Given the description of an element on the screen output the (x, y) to click on. 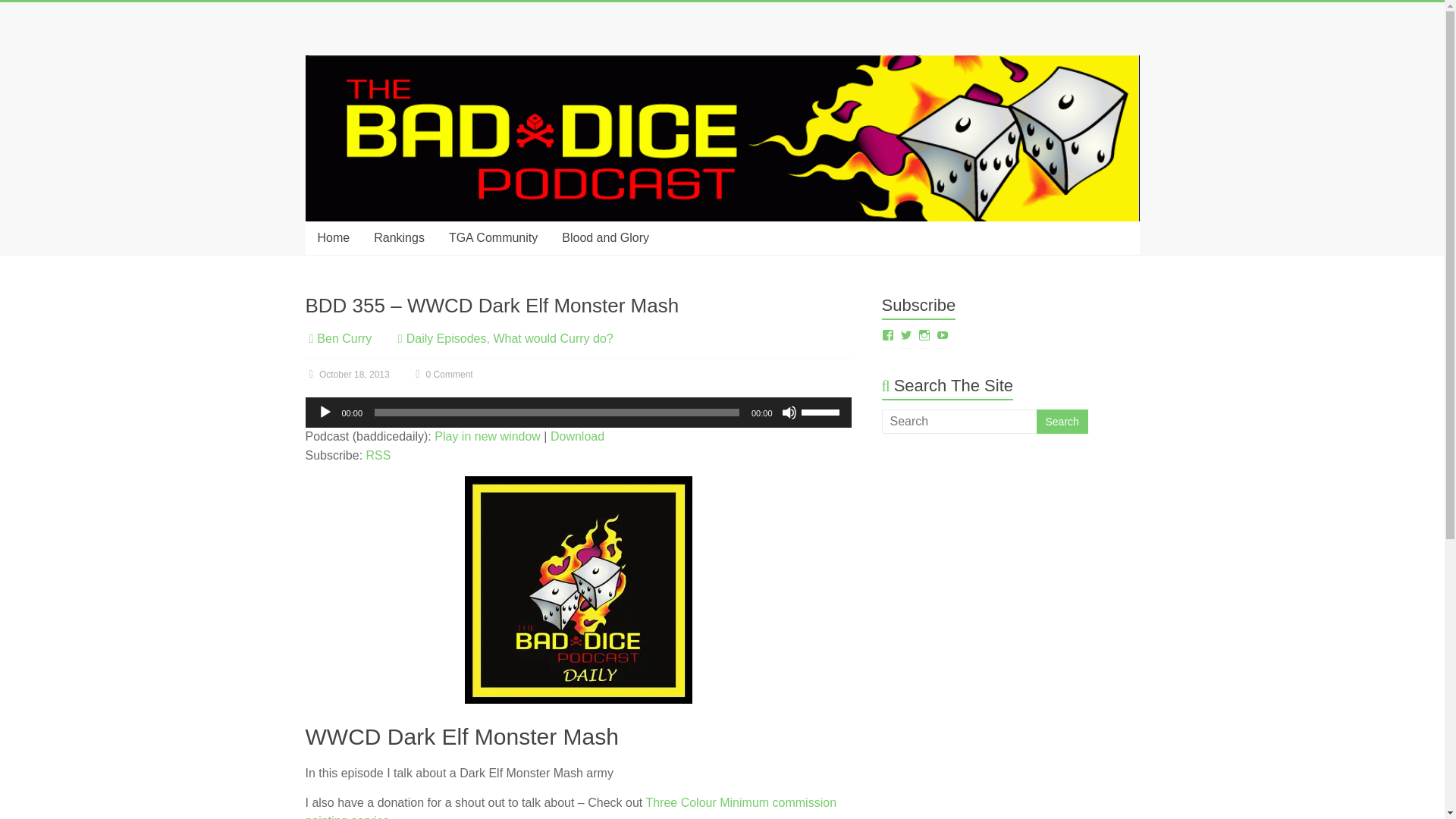
Blood and Glory (605, 237)
Three Colour Minimum commission painting service. (569, 807)
Play in new window (486, 436)
TGA Community (493, 237)
Rankings (398, 237)
Search (1061, 421)
0 Comment (441, 374)
Daily Episodes (446, 338)
Mute (788, 412)
Home (332, 237)
Download (577, 436)
Search (1061, 421)
Play (324, 412)
Ben Curry (344, 338)
Download (577, 436)
